Given the description of an element on the screen output the (x, y) to click on. 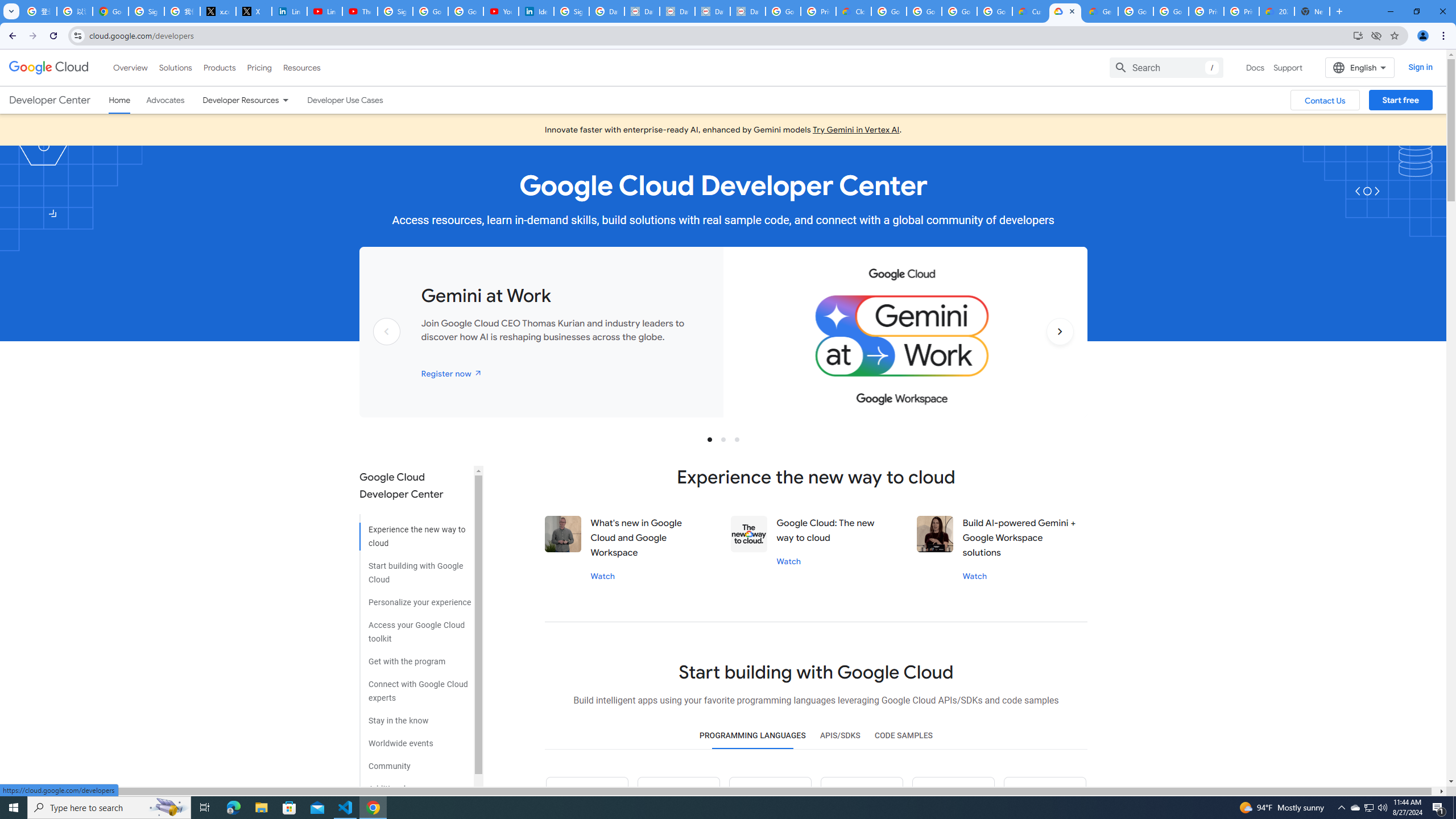
Address and search bar (717, 35)
